Given the description of an element on the screen output the (x, y) to click on. 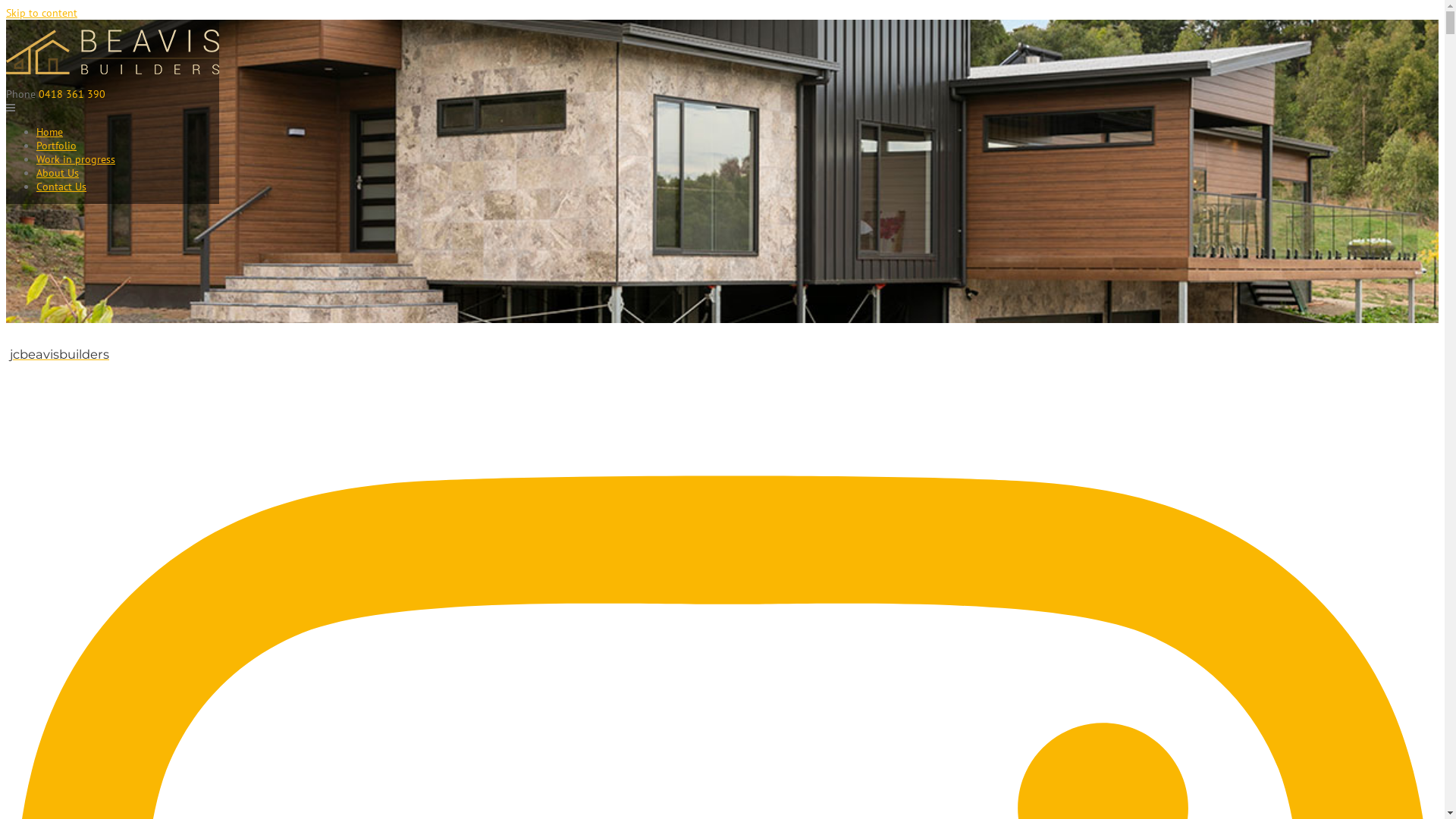
Work in progress Element type: text (75, 159)
About Us Element type: text (57, 172)
Skip to content Element type: text (41, 12)
Contact Us Element type: text (61, 186)
Portfolio Element type: text (56, 145)
Home Element type: text (49, 131)
JC Beavis Builders Element type: hover (112, 80)
